Given the description of an element on the screen output the (x, y) to click on. 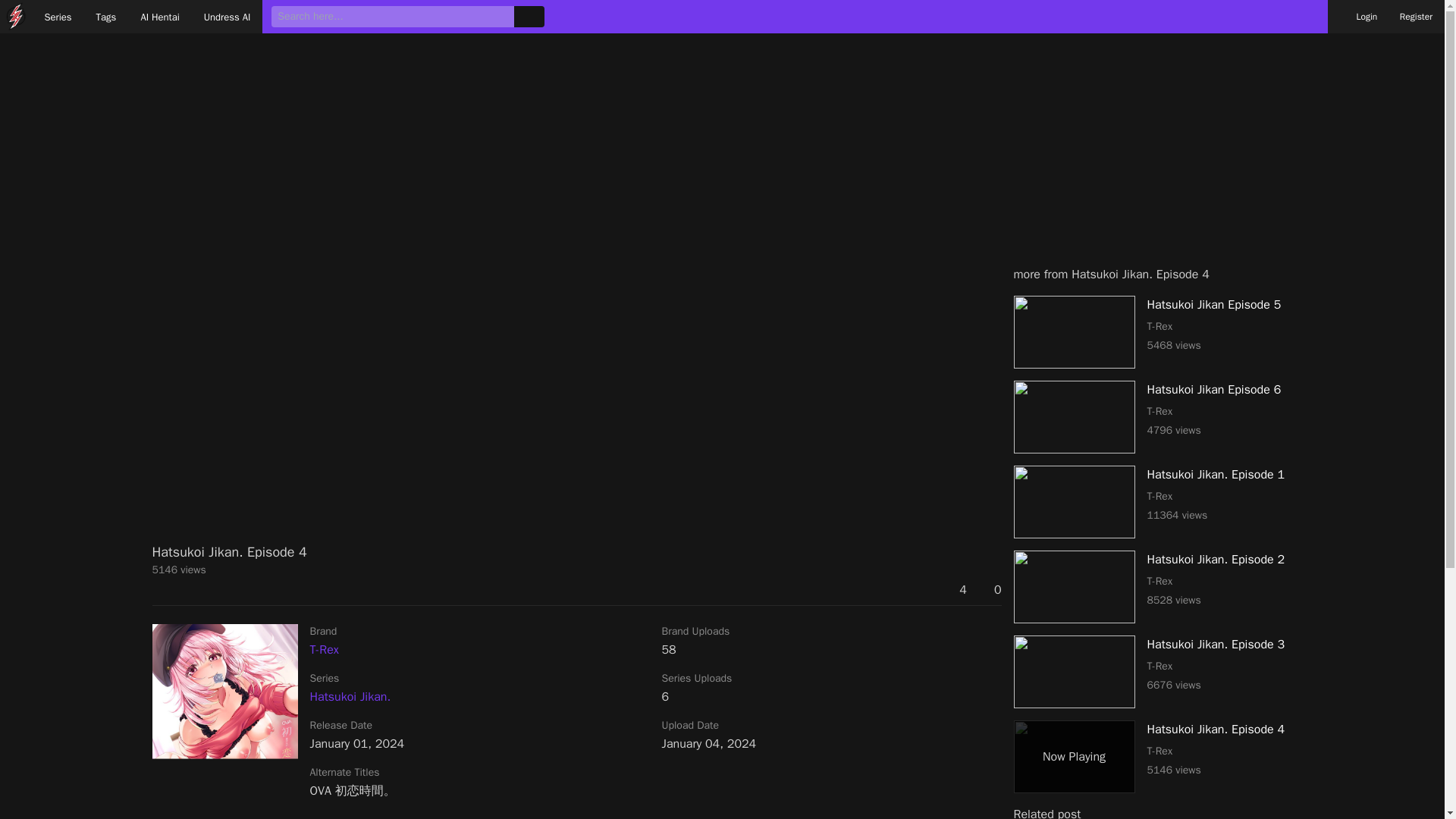
Tags (1152, 331)
4 (106, 16)
0 (954, 589)
Login (989, 589)
T-Rex (1152, 586)
AI Hentai (1358, 16)
Series (322, 649)
Register (1152, 756)
Hatsukoi Jikan. (1152, 502)
Undress AI (1152, 671)
